Given the description of an element on the screen output the (x, y) to click on. 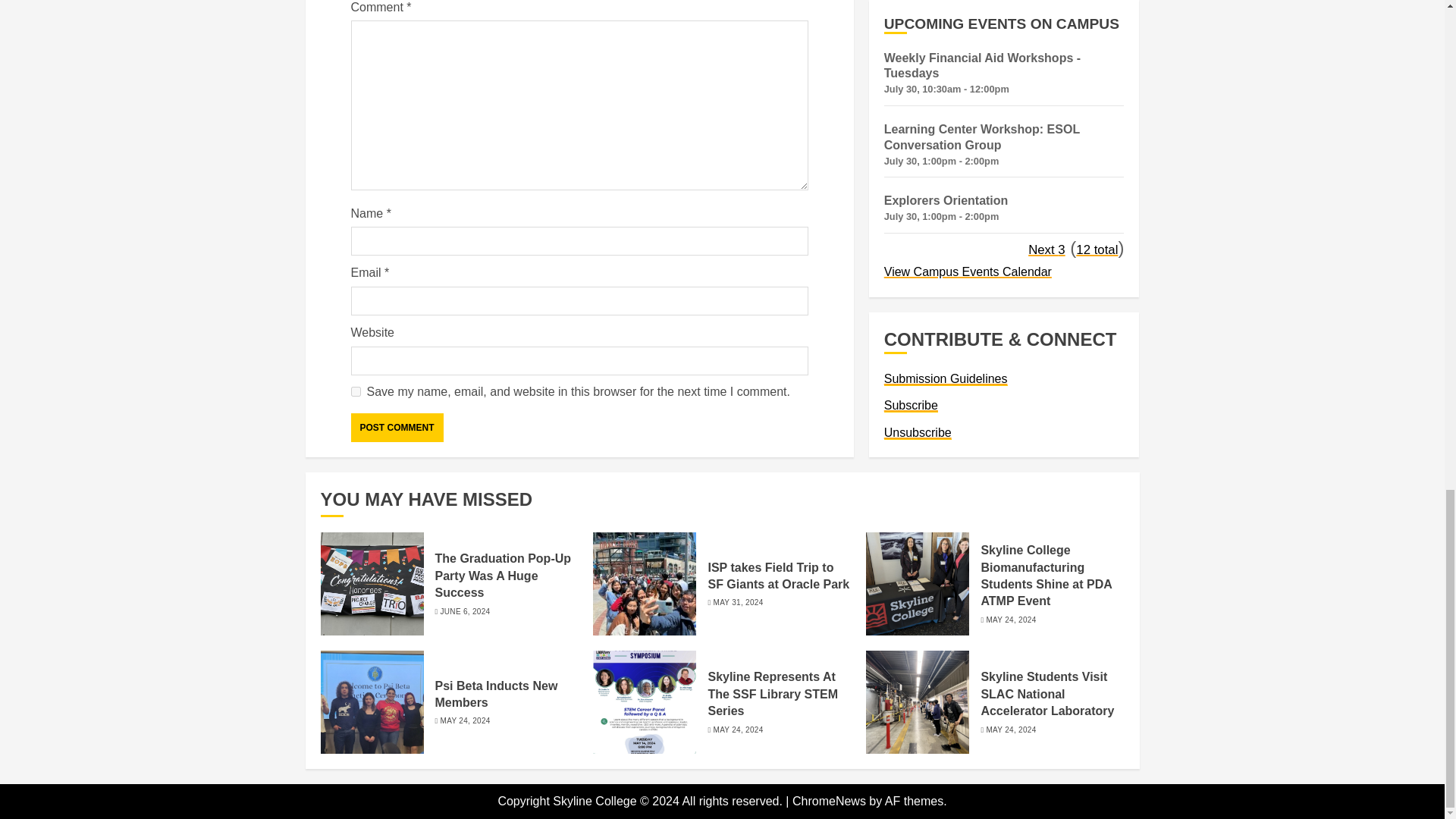
ISP takes Field Trip to SF Giants at Oracle Park (777, 576)
Post Comment (396, 427)
MAY 31, 2024 (737, 602)
yes (354, 391)
Post Comment (396, 427)
The Graduation Pop-Up Party Was A Huge Success (503, 575)
JUNE 6, 2024 (465, 611)
